Given the description of an element on the screen output the (x, y) to click on. 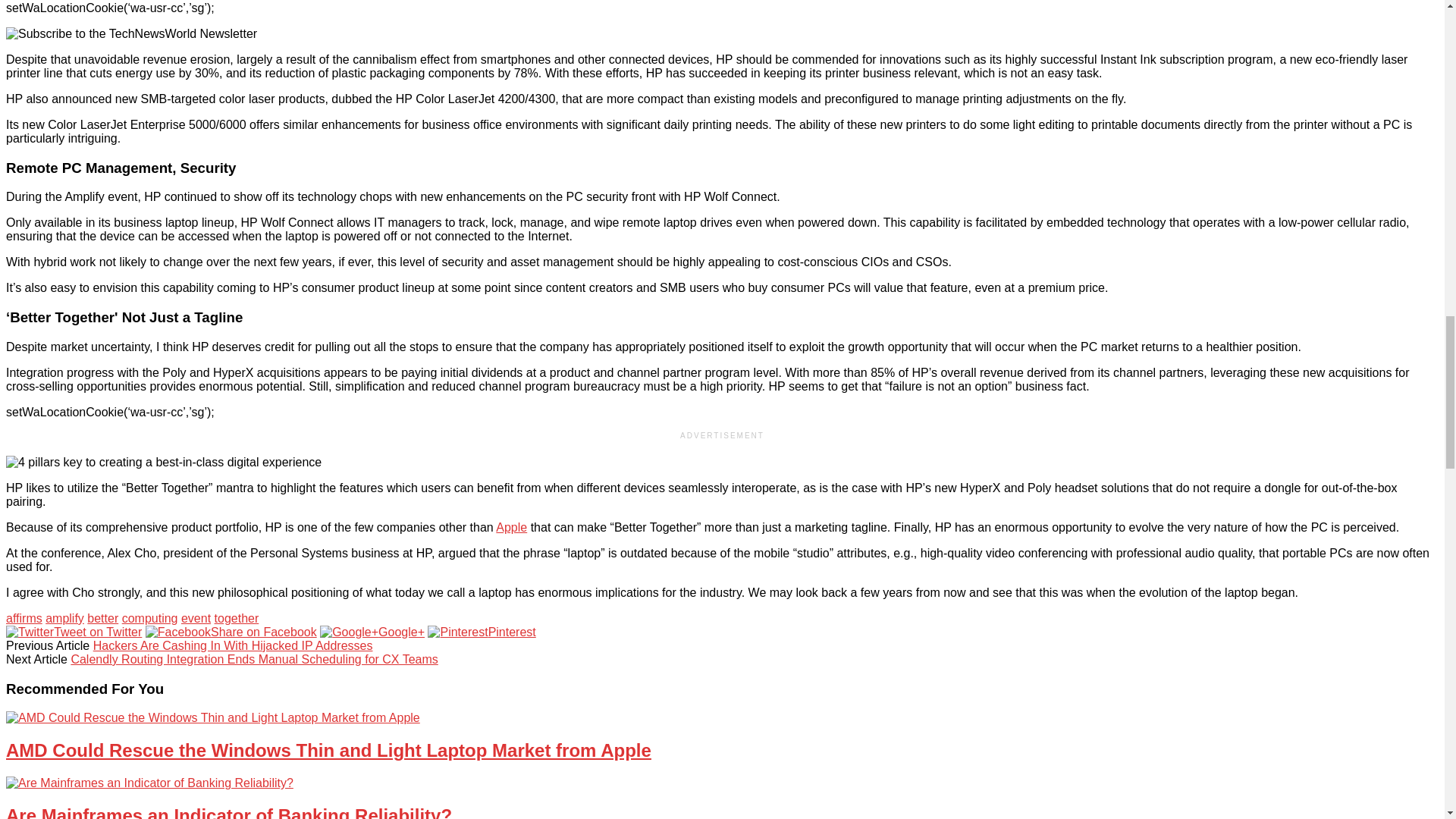
Are Mainframes an Indicator of Banking Reliability? (149, 783)
